Given the description of an element on the screen output the (x, y) to click on. 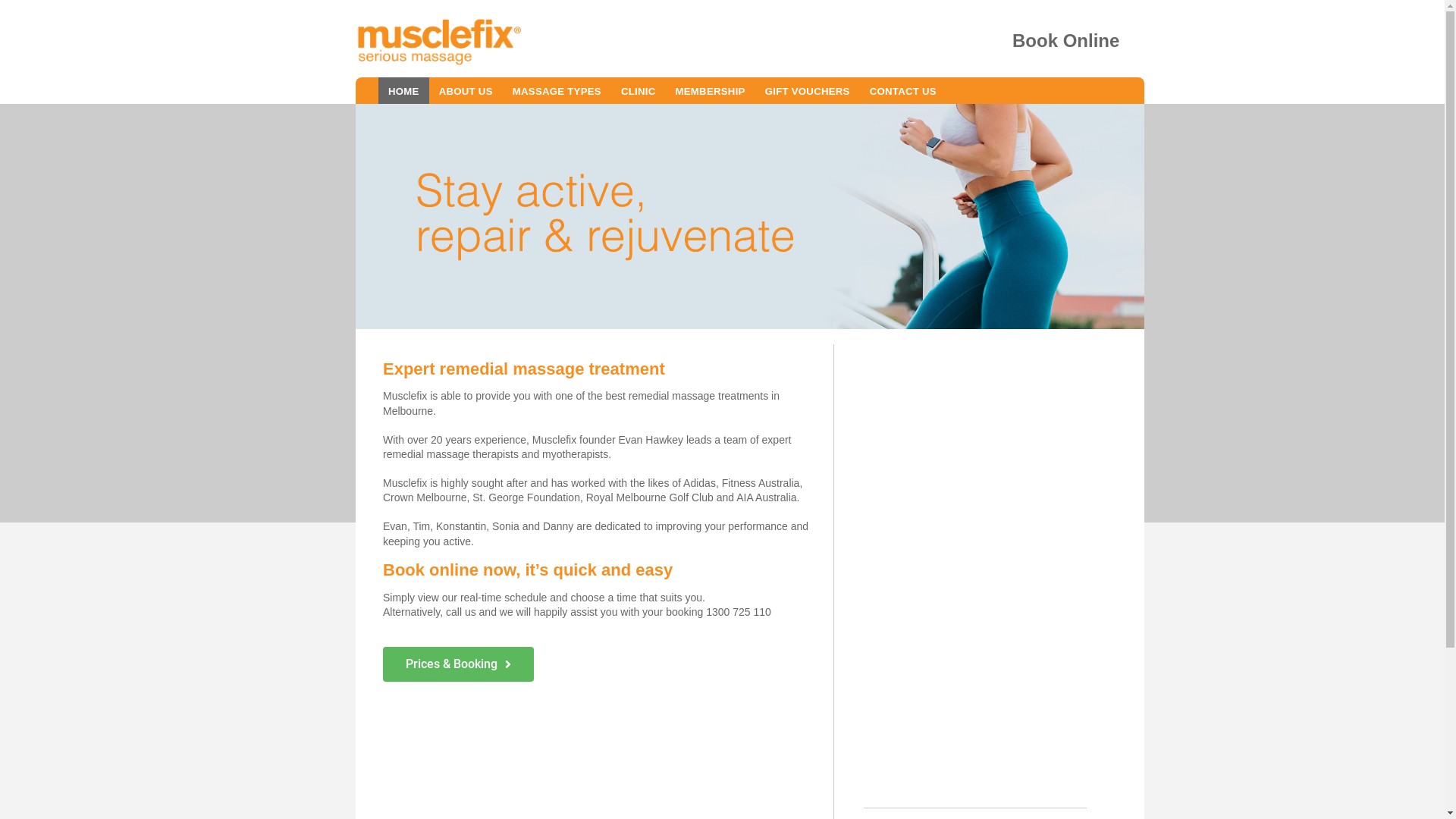
MEMBERSHIP Element type: text (710, 91)
CLINIC Element type: text (638, 91)
Book Online Element type: text (1065, 40)
Prices & Booking Element type: text (457, 663)
MASSAGE TYPES Element type: text (556, 91)
GIFT VOUCHERS Element type: text (807, 91)
ABOUT US Element type: text (465, 91)
CONTACT US Element type: text (902, 91)
HOME Element type: text (403, 91)
